Given the description of an element on the screen output the (x, y) to click on. 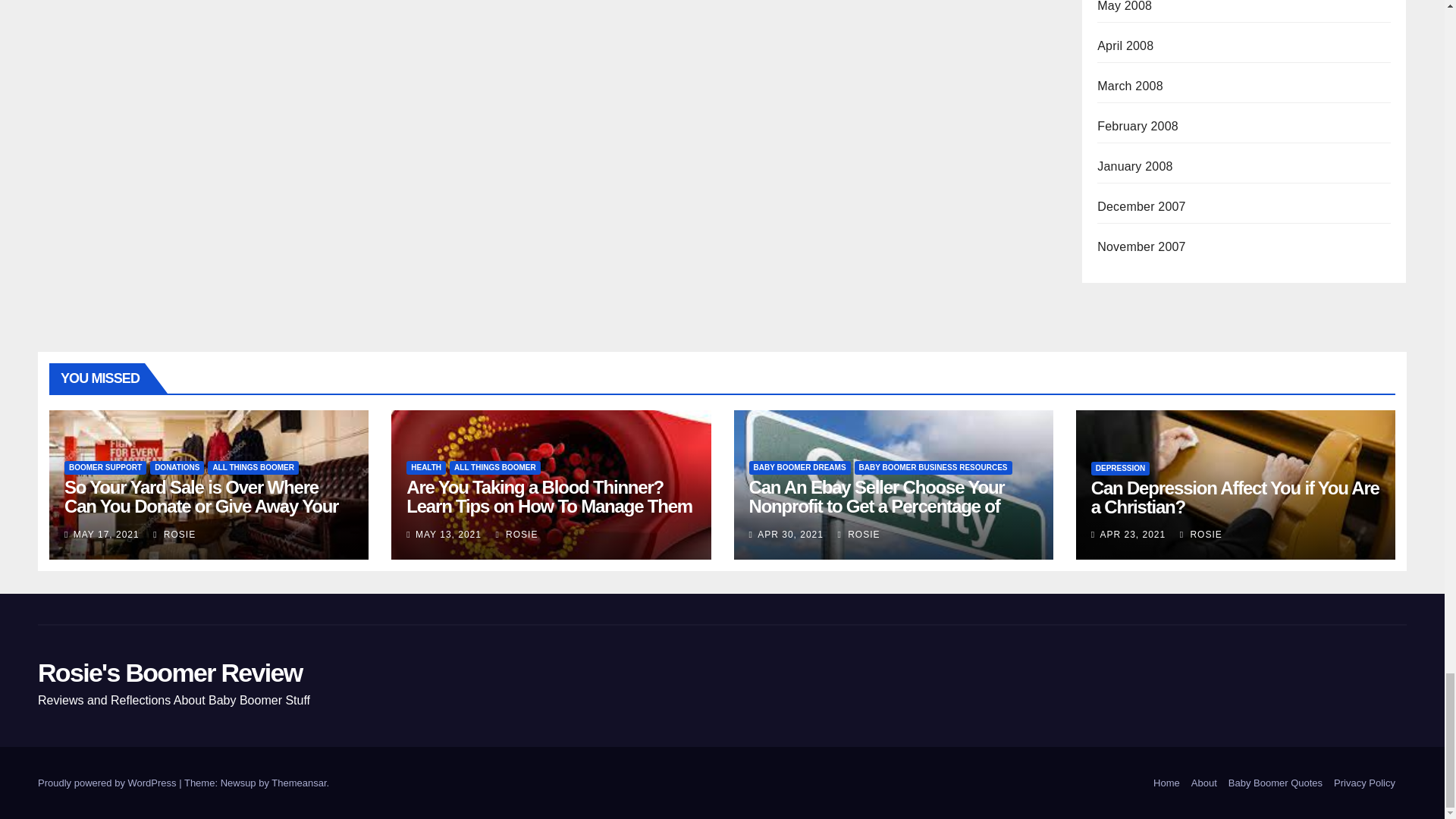
Home (1166, 782)
